Given the description of an element on the screen output the (x, y) to click on. 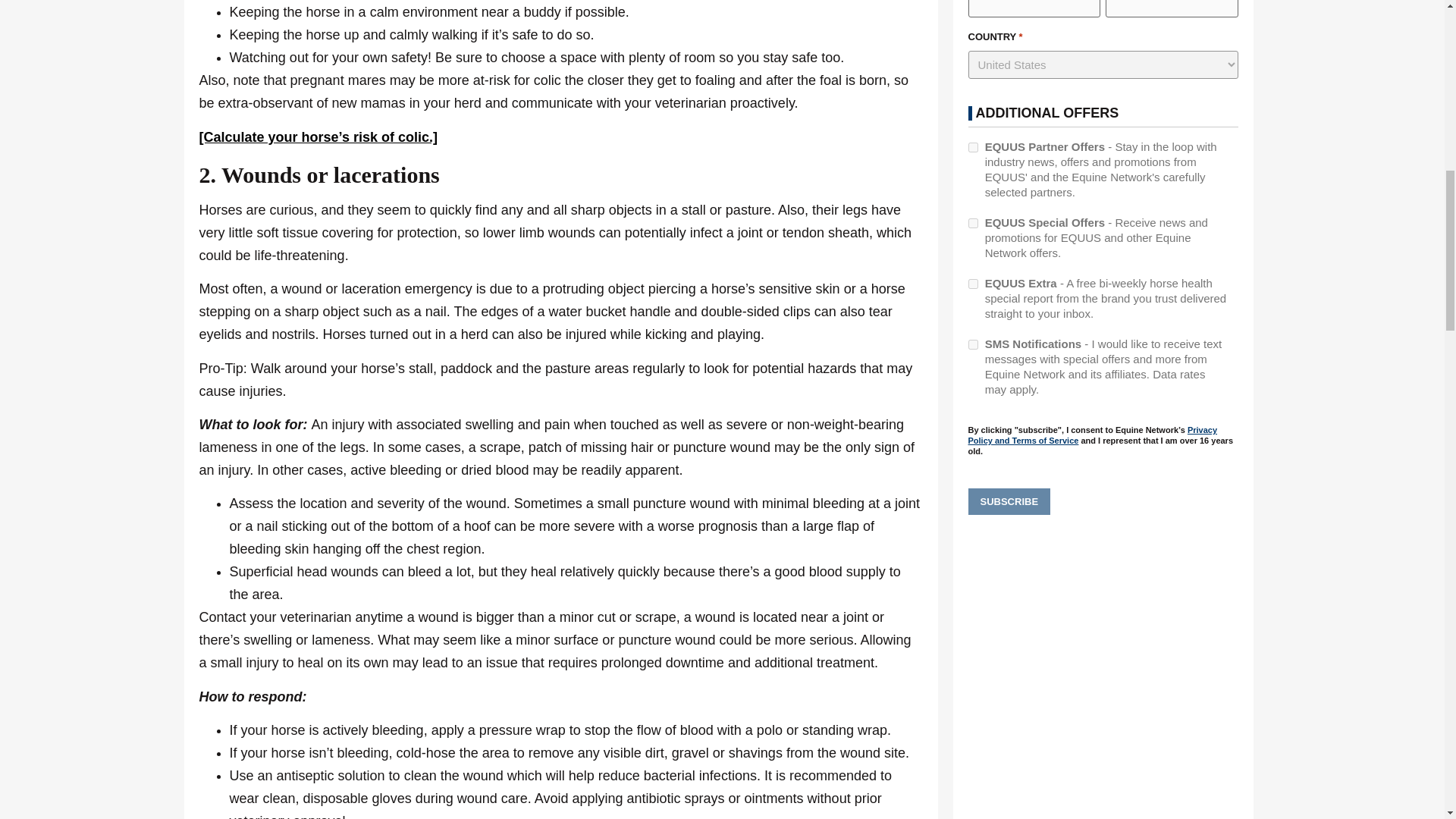
Subscribe (1008, 501)
52f26a8f-e5be-4237-a9cb-227d8912a511 (972, 147)
0cd2e389-c43e-4146-b3bb-59ab437fd8f4 (972, 284)
591f5baa-e9c3-40bf-bf02-f5923680caa3 (972, 223)
SMS Notifications (972, 344)
